Given the description of an element on the screen output the (x, y) to click on. 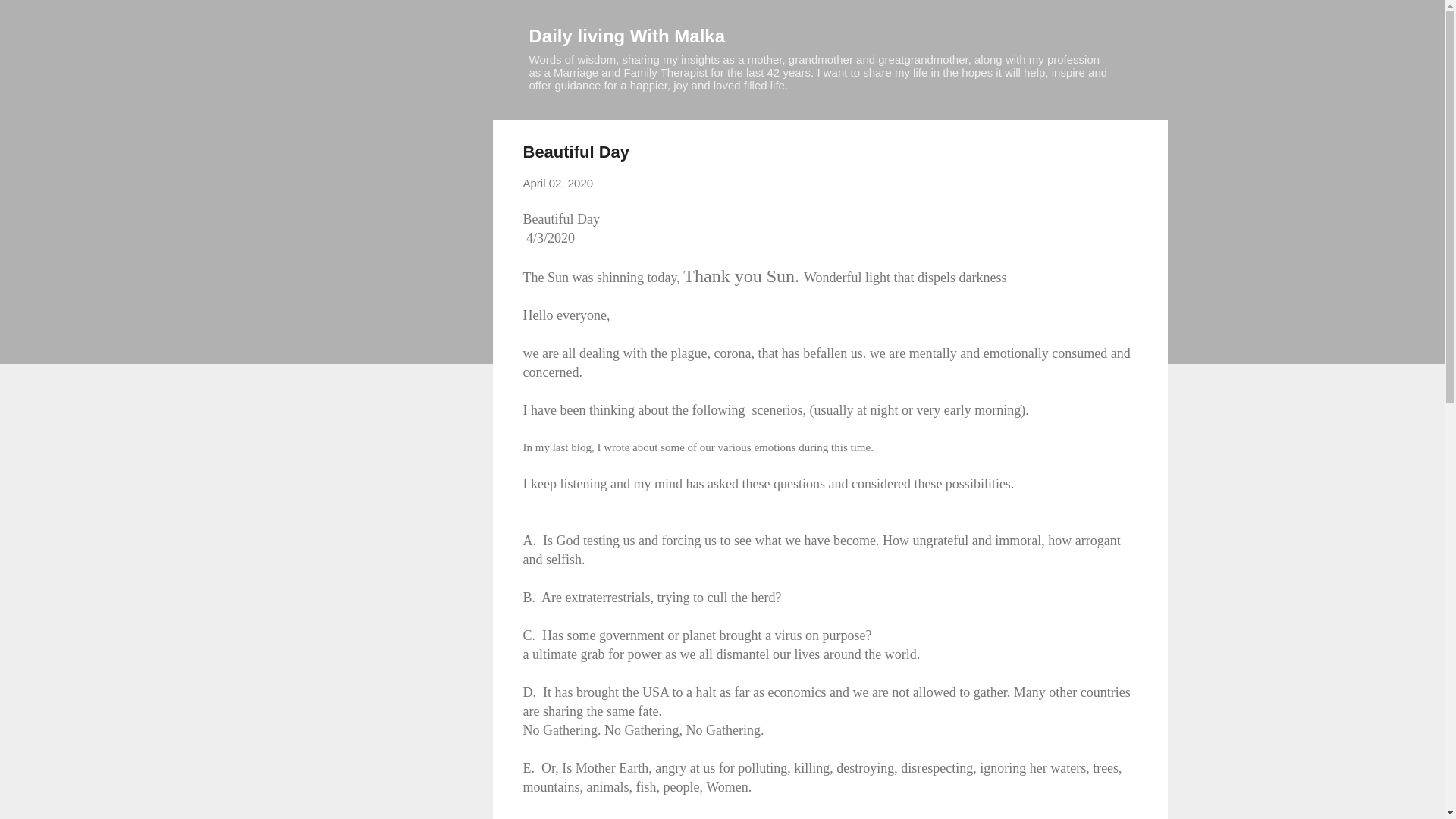
permanent link (558, 182)
April 02, 2020 (558, 182)
Daily living With Malka (627, 35)
Search (29, 18)
